Given the description of an element on the screen output the (x, y) to click on. 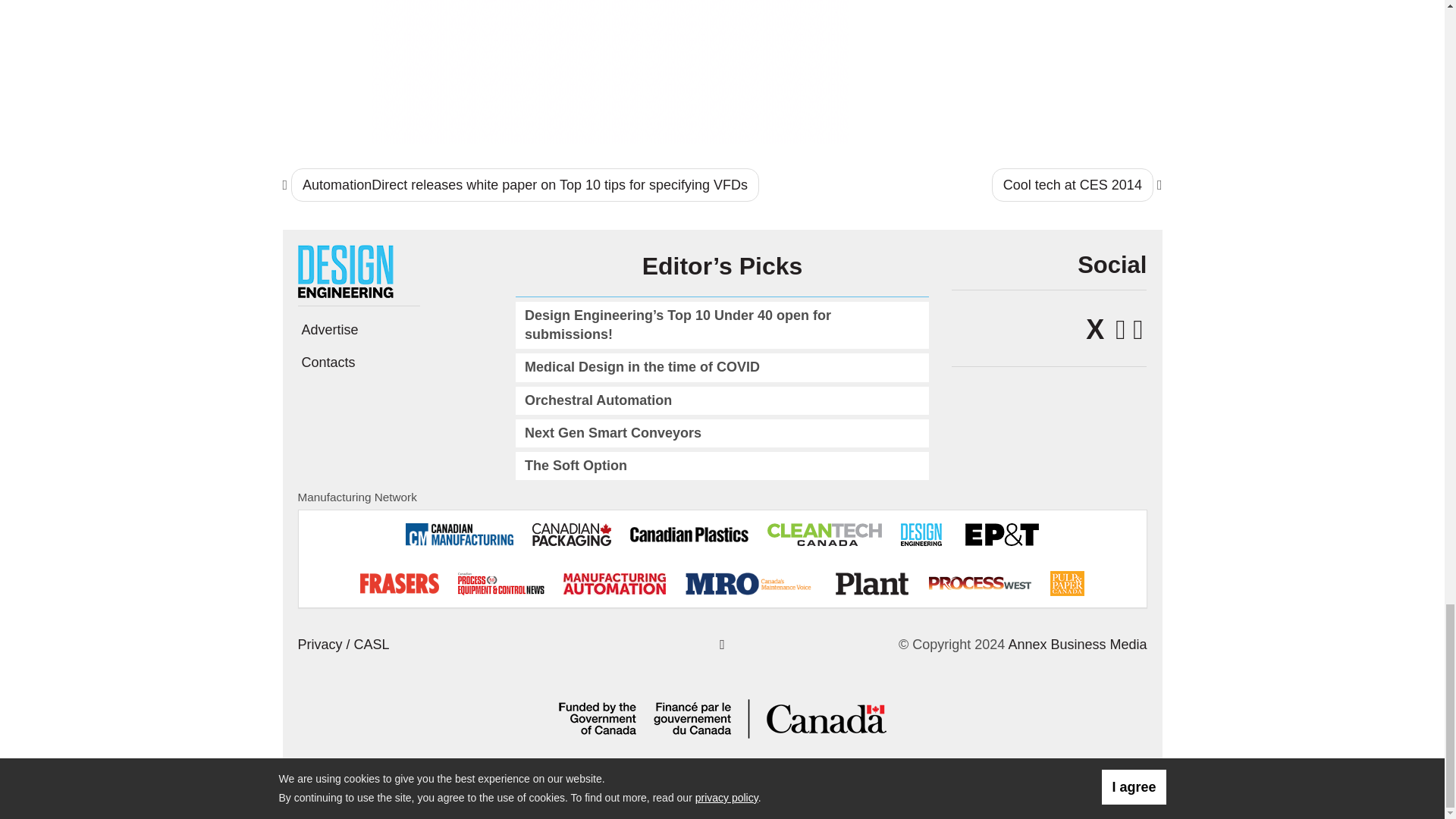
scroll to top (722, 644)
Annex Business Media (1077, 644)
Design Engineering (350, 270)
3rd party ad content (609, 71)
